Given the description of an element on the screen output the (x, y) to click on. 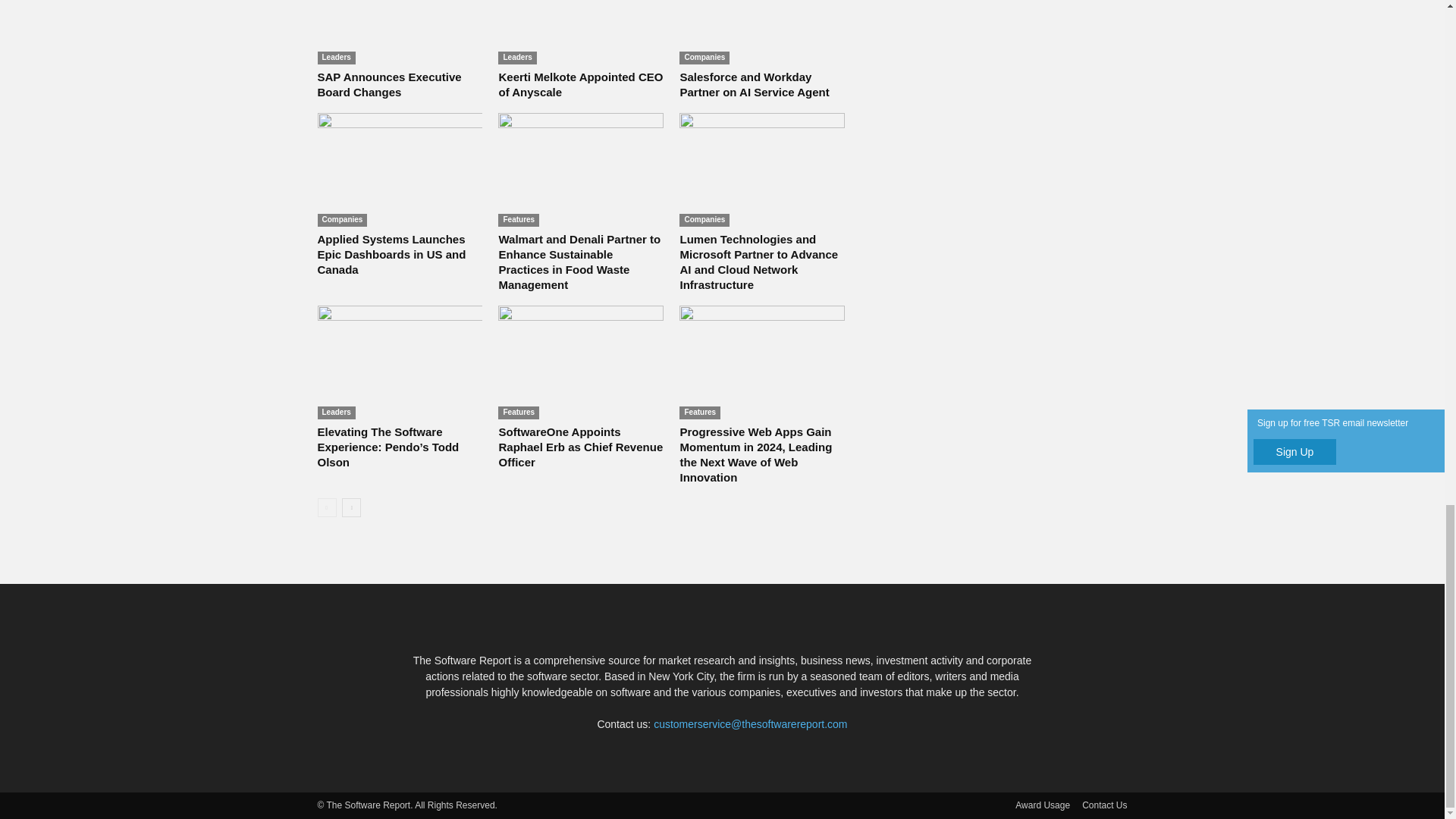
Keerti Melkote Appointed CEO of Anyscale (580, 32)
SAP Announces Executive Board Changes (399, 32)
SAP Announces Executive Board Changes (389, 84)
